Given the description of an element on the screen output the (x, y) to click on. 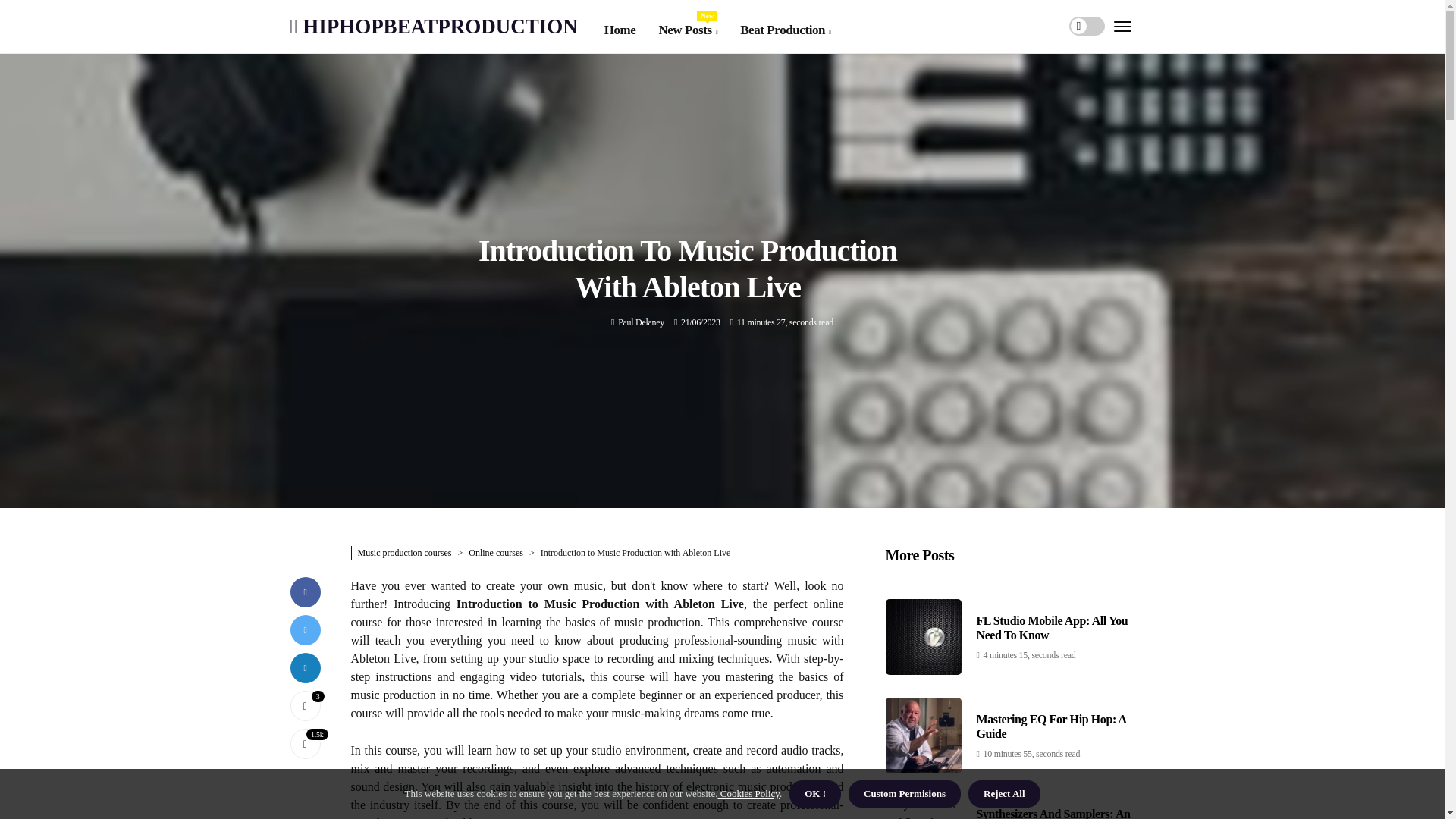
Like (687, 30)
Beat Production (304, 705)
HIPHOPBEATPRODUCTION (784, 30)
Posts by Paul Delaney (432, 26)
